Given the description of an element on the screen output the (x, y) to click on. 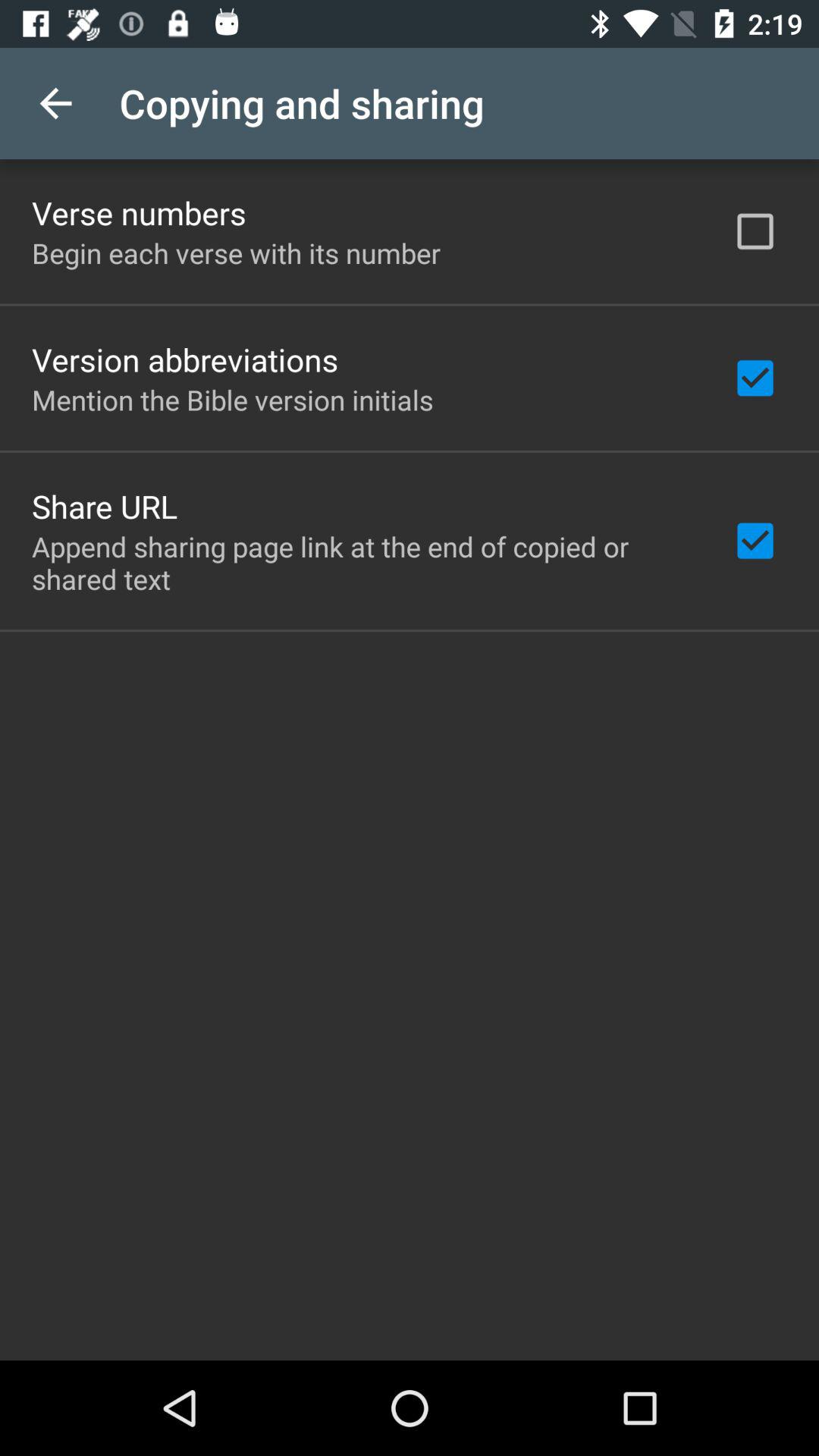
swipe until the begin each verse (235, 252)
